Given the description of an element on the screen output the (x, y) to click on. 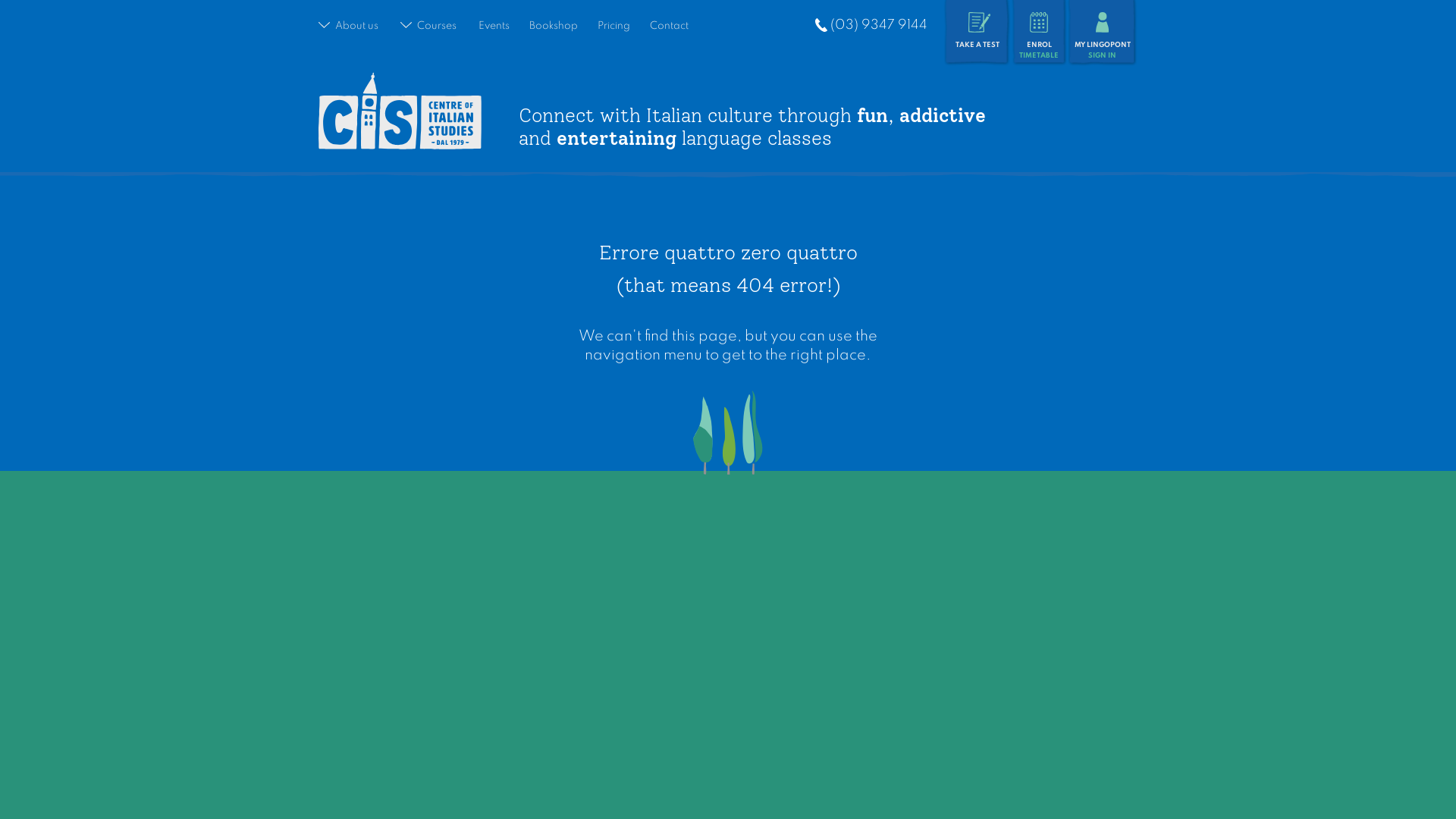
Courses Element type: text (426, 25)
Events Element type: text (492, 25)
Contact Element type: text (668, 25)
(03) 9347 9144 Element type: text (871, 24)
TAKE A TEST Element type: text (976, 36)
Pricing Element type: text (613, 25)
Bookshop Element type: text (553, 25)
ENROL
TIMETABLE Element type: text (1038, 36)
MY LINGOPONT
SIGN IN Element type: text (1101, 36)
About us Element type: text (346, 25)
